Given the description of an element on the screen output the (x, y) to click on. 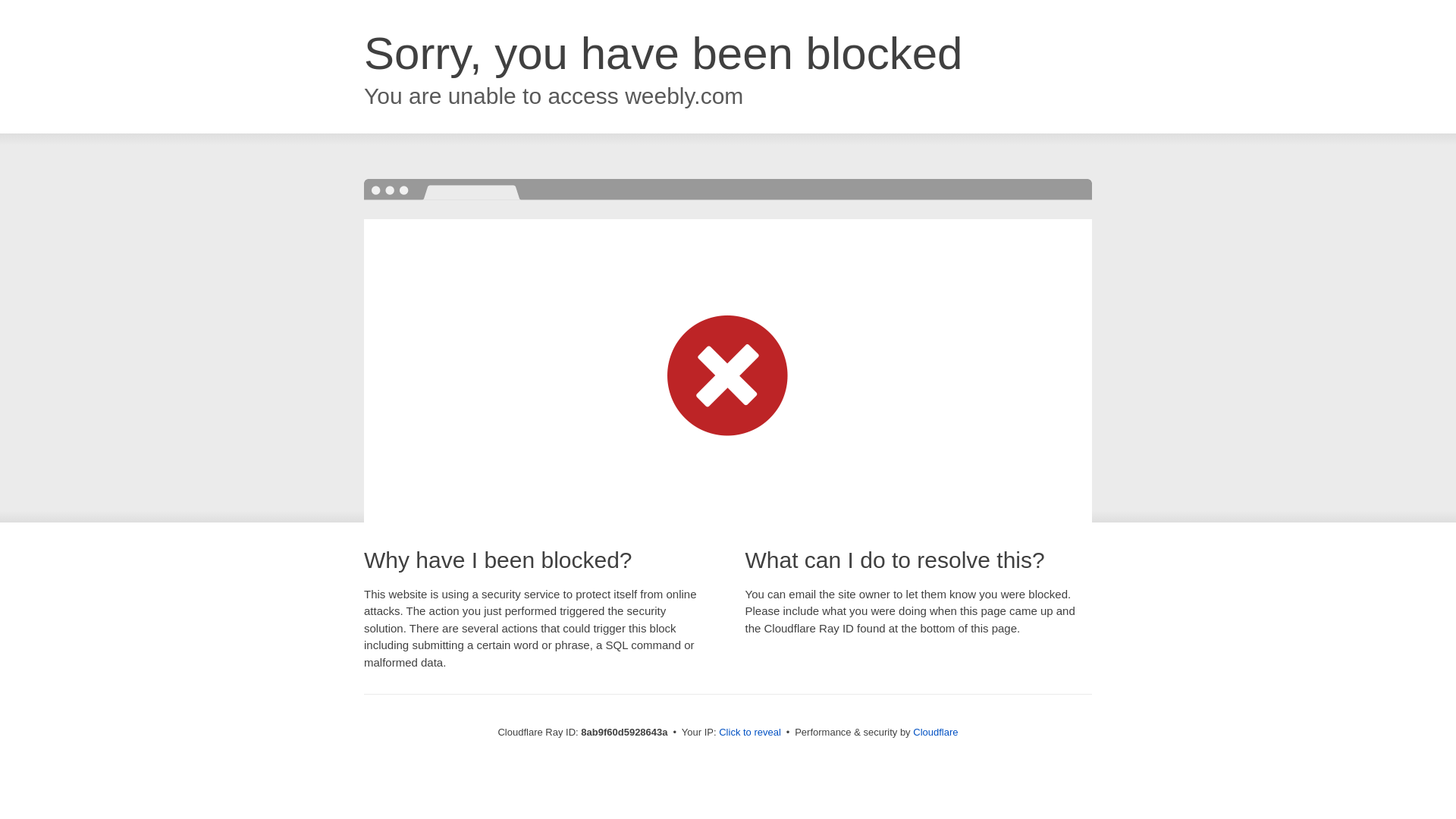
Cloudflare (935, 731)
Click to reveal (749, 732)
